Given the description of an element on the screen output the (x, y) to click on. 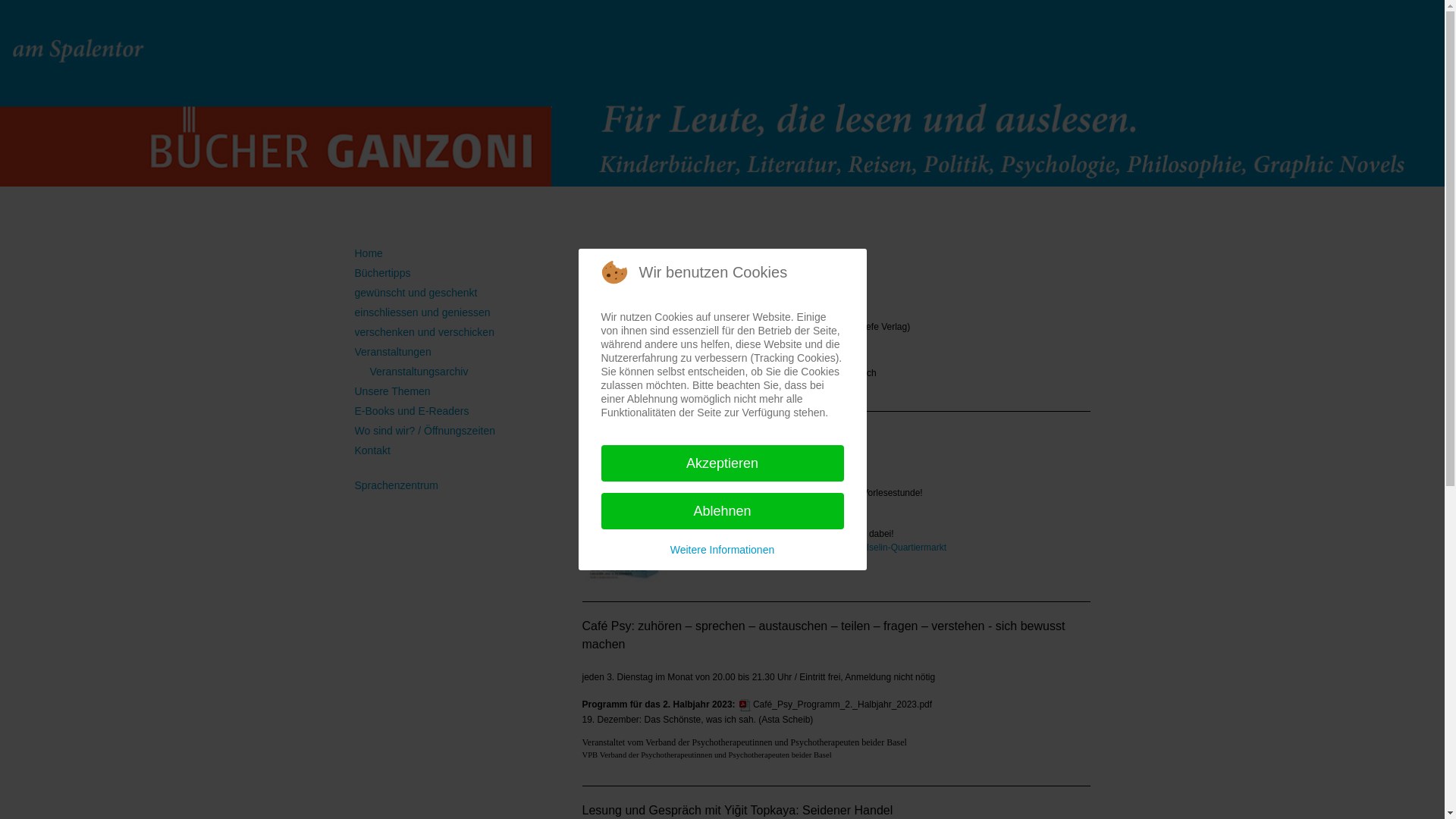
Kontakt Element type: text (372, 450)
E-Books und E-Readers Element type: text (411, 410)
verschenken und verschicken Element type: text (424, 332)
Veranstaltungen Element type: text (392, 351)
Weitere Informationen Element type: text (722, 549)
Sprachenzentrum Element type: text (396, 485)
Home Element type: text (368, 253)
Unsere Themen Element type: text (392, 391)
VPB-Lesung_2023_Einladung.pdf Element type: text (659, 341)
einschliessen und geniessen Element type: text (422, 312)
Veranstaltungsarchiv Element type: text (419, 371)
Ablehnen Element type: text (721, 510)
info@buecherganzoni.ch Element type: text (825, 372)
Isaak Iselin-Quartiermarkt Element type: text (894, 547)
Akzeptieren Element type: text (721, 463)
